Given the description of an element on the screen output the (x, y) to click on. 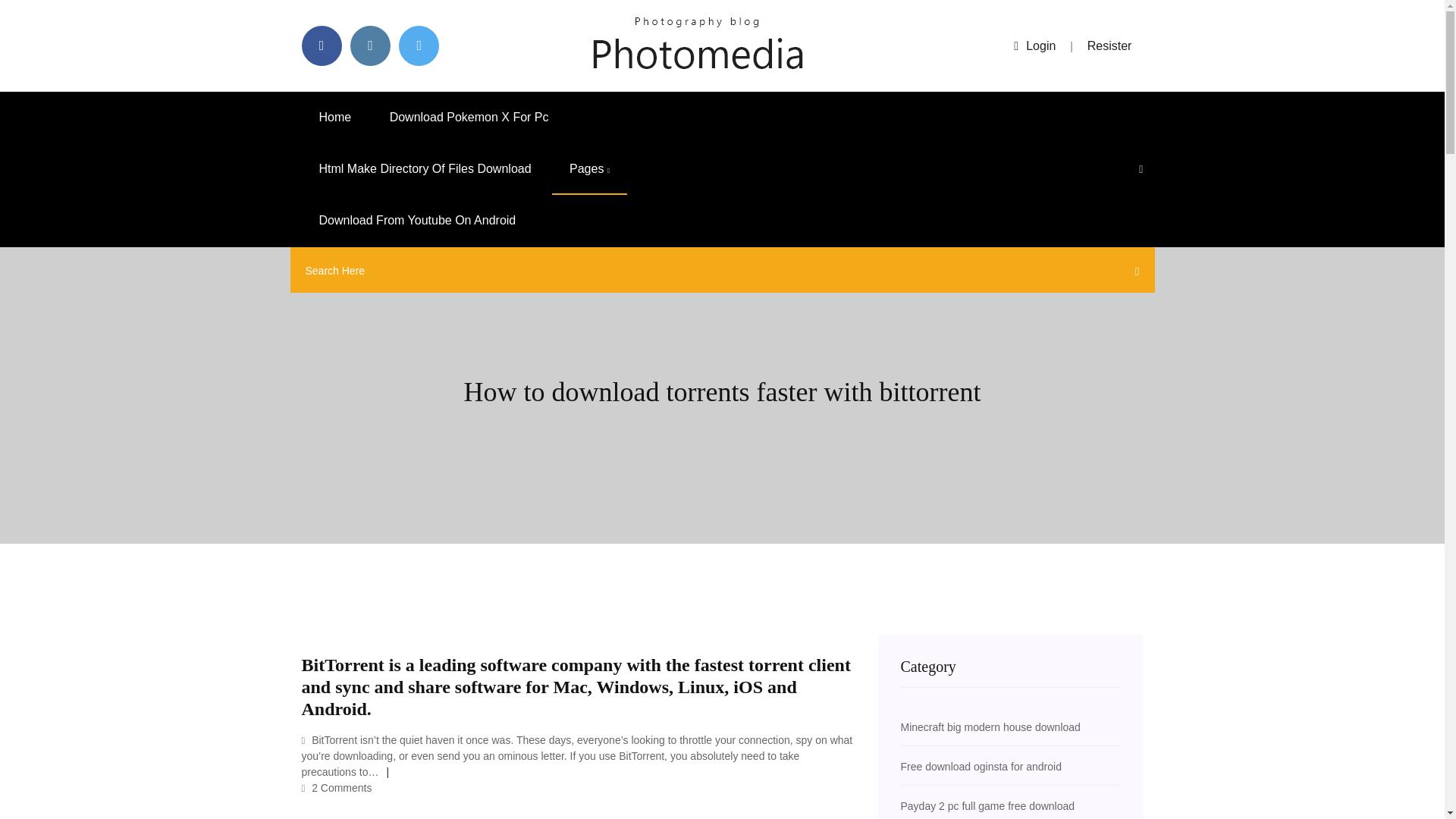
Pages (589, 168)
Download Pokemon X For Pc (469, 117)
Login (1034, 45)
2 Comments (336, 787)
Resister (1109, 45)
Html Make Directory Of Files Download (424, 168)
Download From Youtube On Android (417, 220)
Home (335, 117)
